Given the description of an element on the screen output the (x, y) to click on. 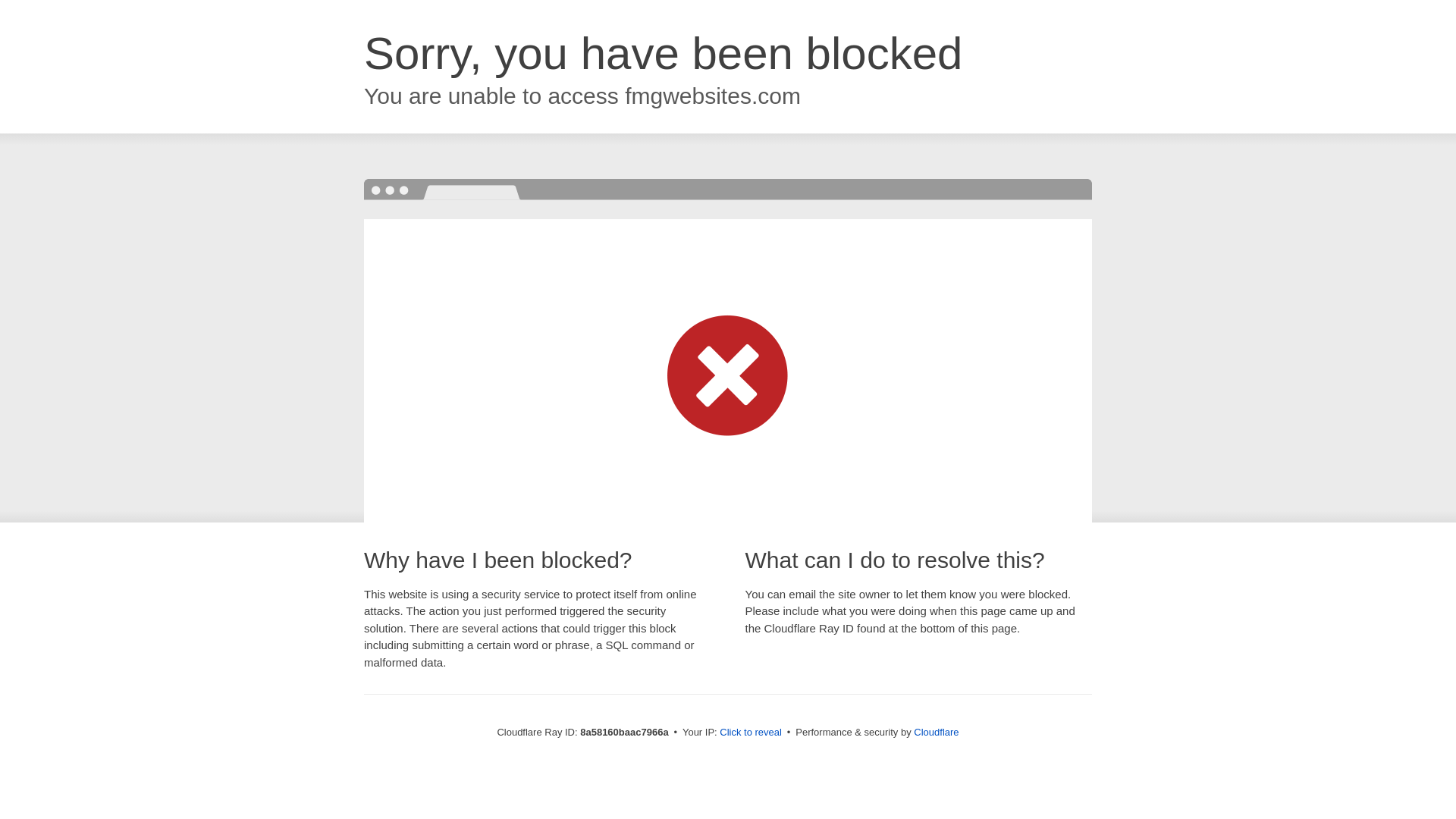
Cloudflare (936, 731)
Click to reveal (750, 732)
